Given the description of an element on the screen output the (x, y) to click on. 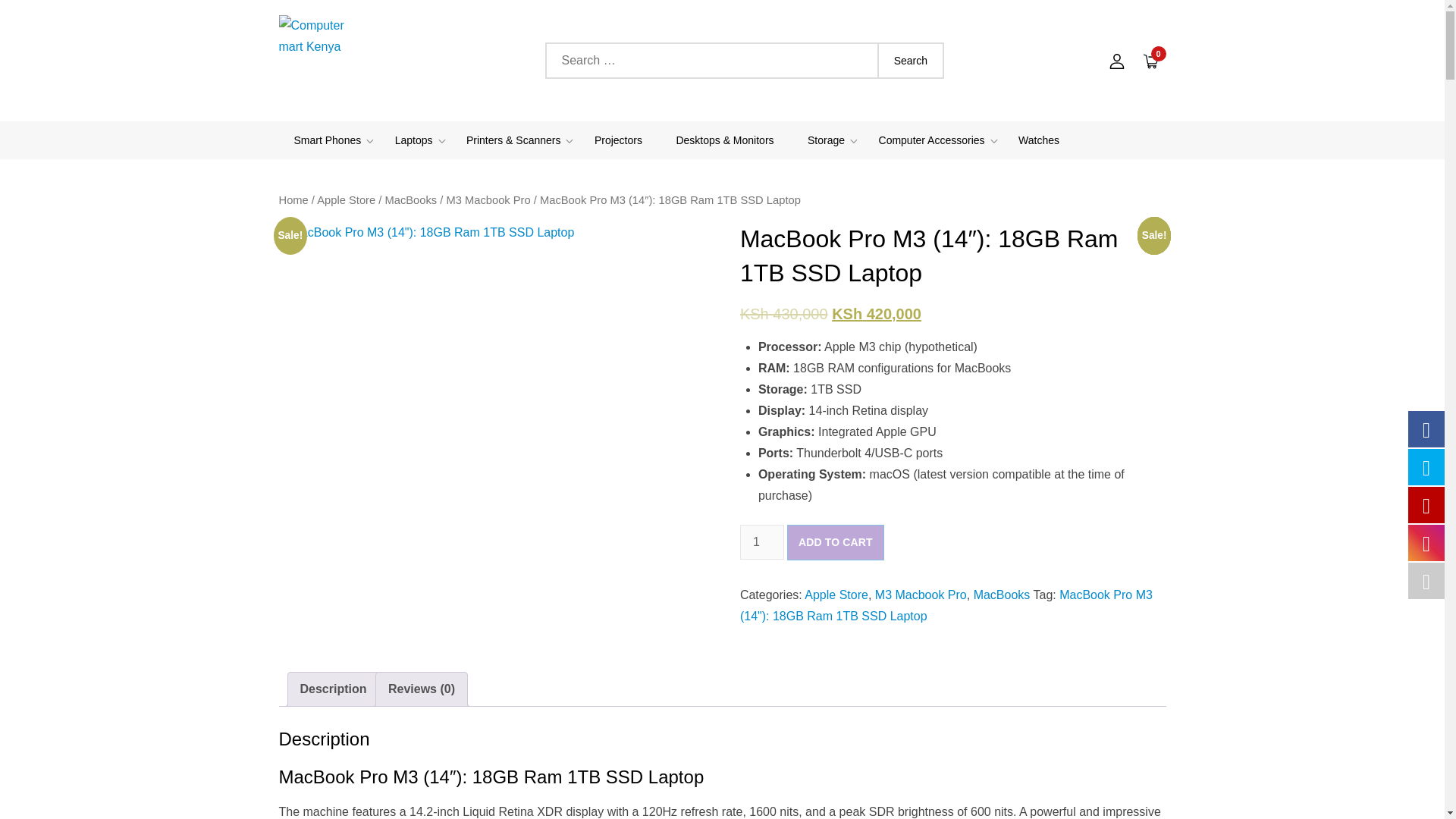
Smart Phones (328, 139)
Search (909, 60)
Search (909, 60)
Search (909, 60)
Computer Mart Kenya (389, 118)
1 (761, 541)
0 (1150, 60)
Projectors (618, 139)
Laptops (414, 139)
